Given the description of an element on the screen output the (x, y) to click on. 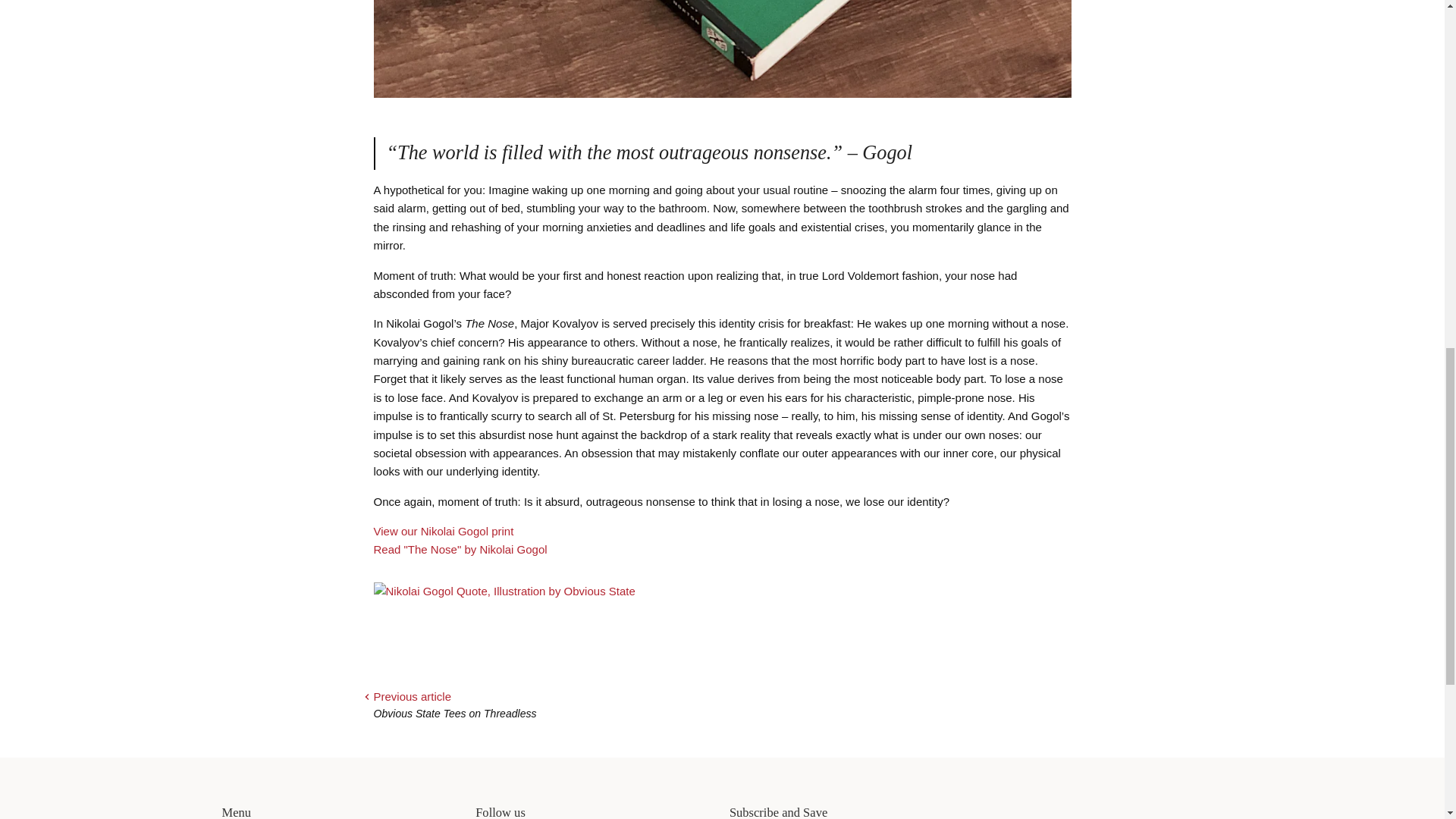
View our Nikolai Gogol print (442, 530)
Read "The Nose" by Nikolai Gogol (459, 549)
